Given the description of an element on the screen output the (x, y) to click on. 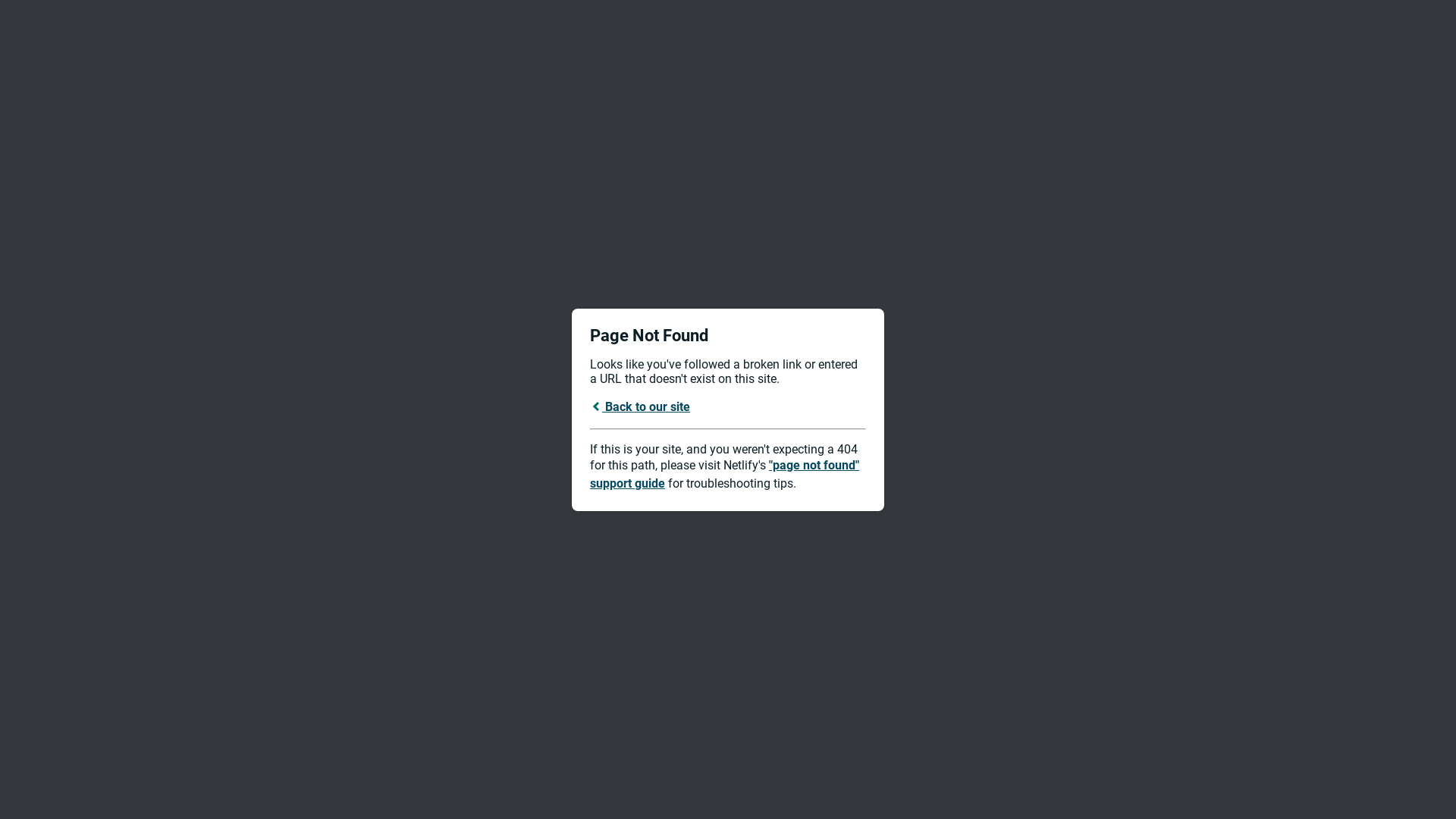
"page not found" support guide Element type: text (724, 474)
Back to our site Element type: text (639, 405)
